Given the description of an element on the screen output the (x, y) to click on. 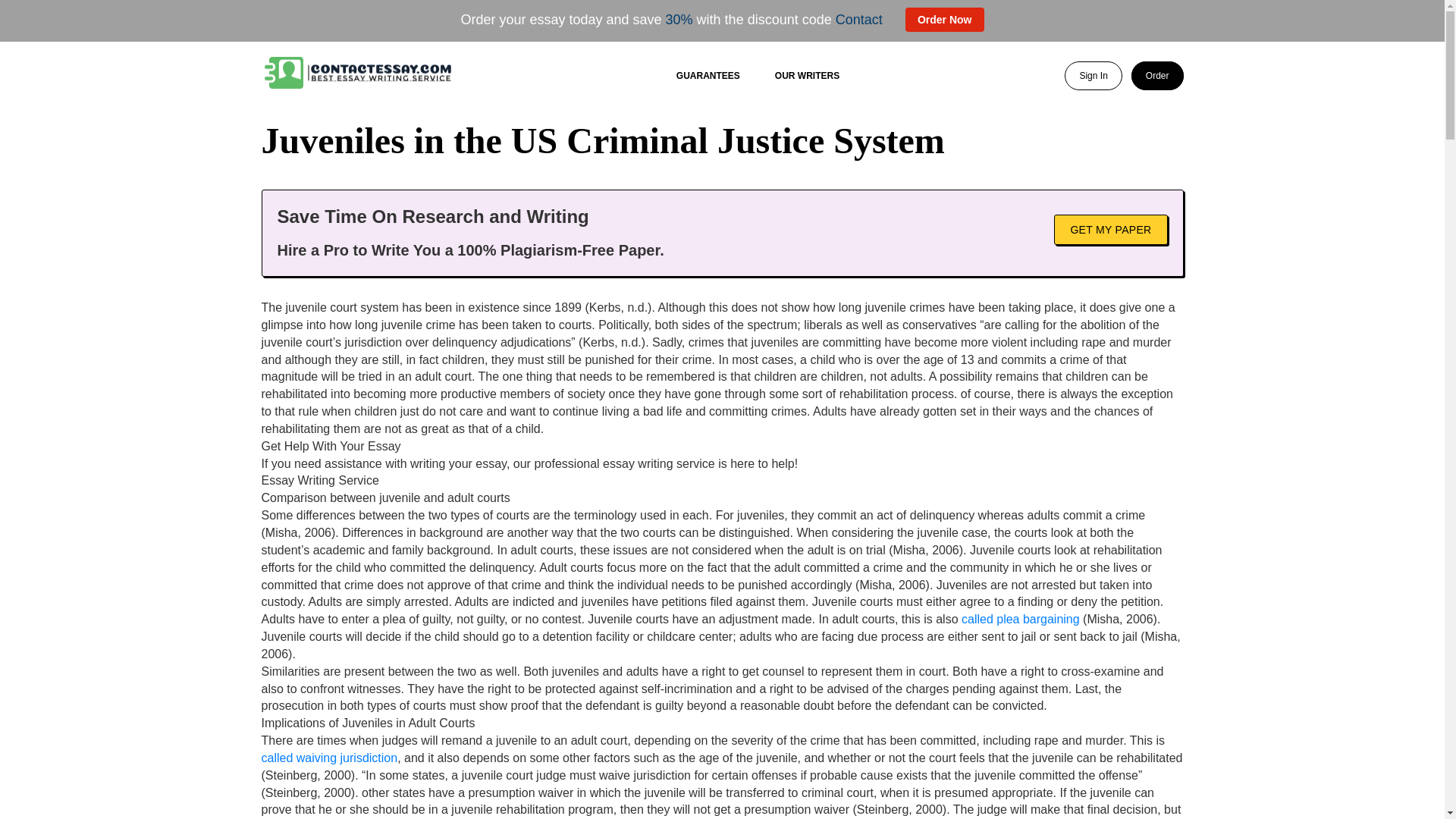
called waiving jurisdiction (328, 757)
called plea bargaining (1020, 618)
Order (1157, 75)
Order Now (944, 19)
OUR WRITERS (807, 75)
Sign In (1092, 75)
GET MY PAPER (1110, 228)
GUARANTEES (708, 75)
